Given the description of an element on the screen output the (x, y) to click on. 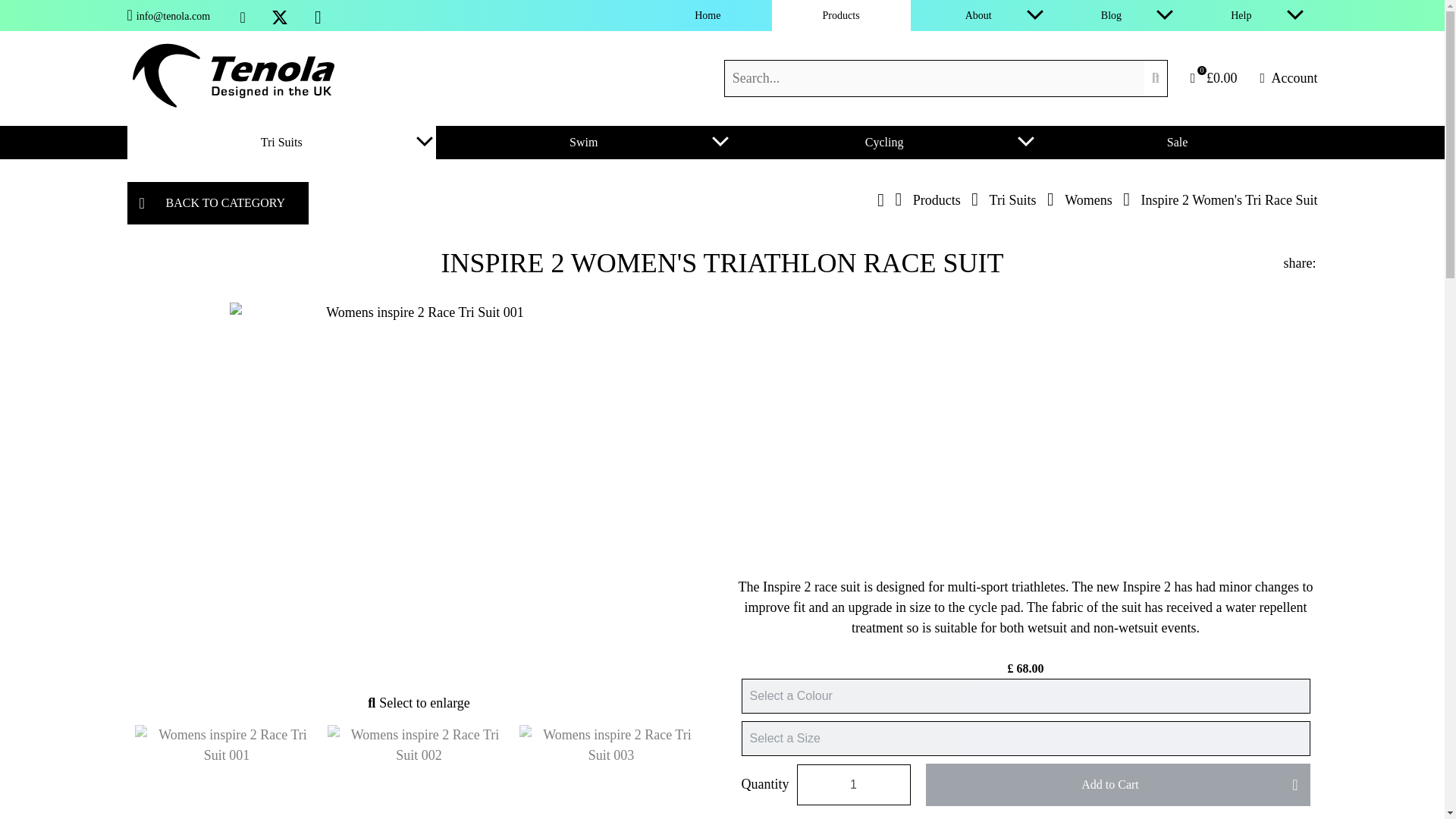
Home (707, 15)
Follow Us On X (279, 16)
About (967, 15)
Go to the About page (967, 15)
Products (841, 15)
1 (853, 784)
